Given the description of an element on the screen output the (x, y) to click on. 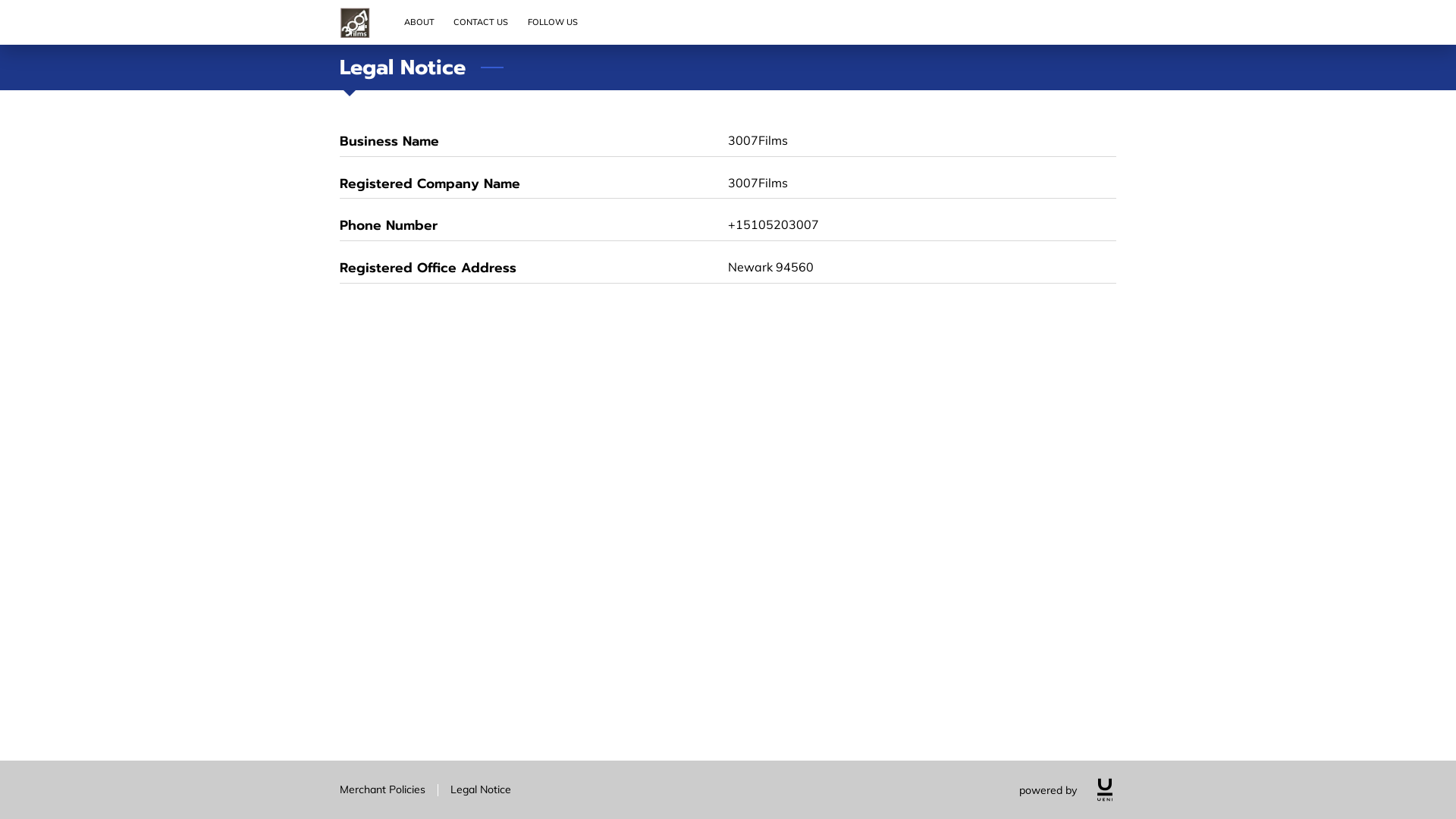
Legal Notice Element type: text (480, 789)
CONTACT US Element type: text (481, 22)
FOLLOW US Element type: text (552, 22)
Merchant Policies Element type: text (382, 789)
ABOUT Element type: text (419, 22)
